Given the description of an element on the screen output the (x, y) to click on. 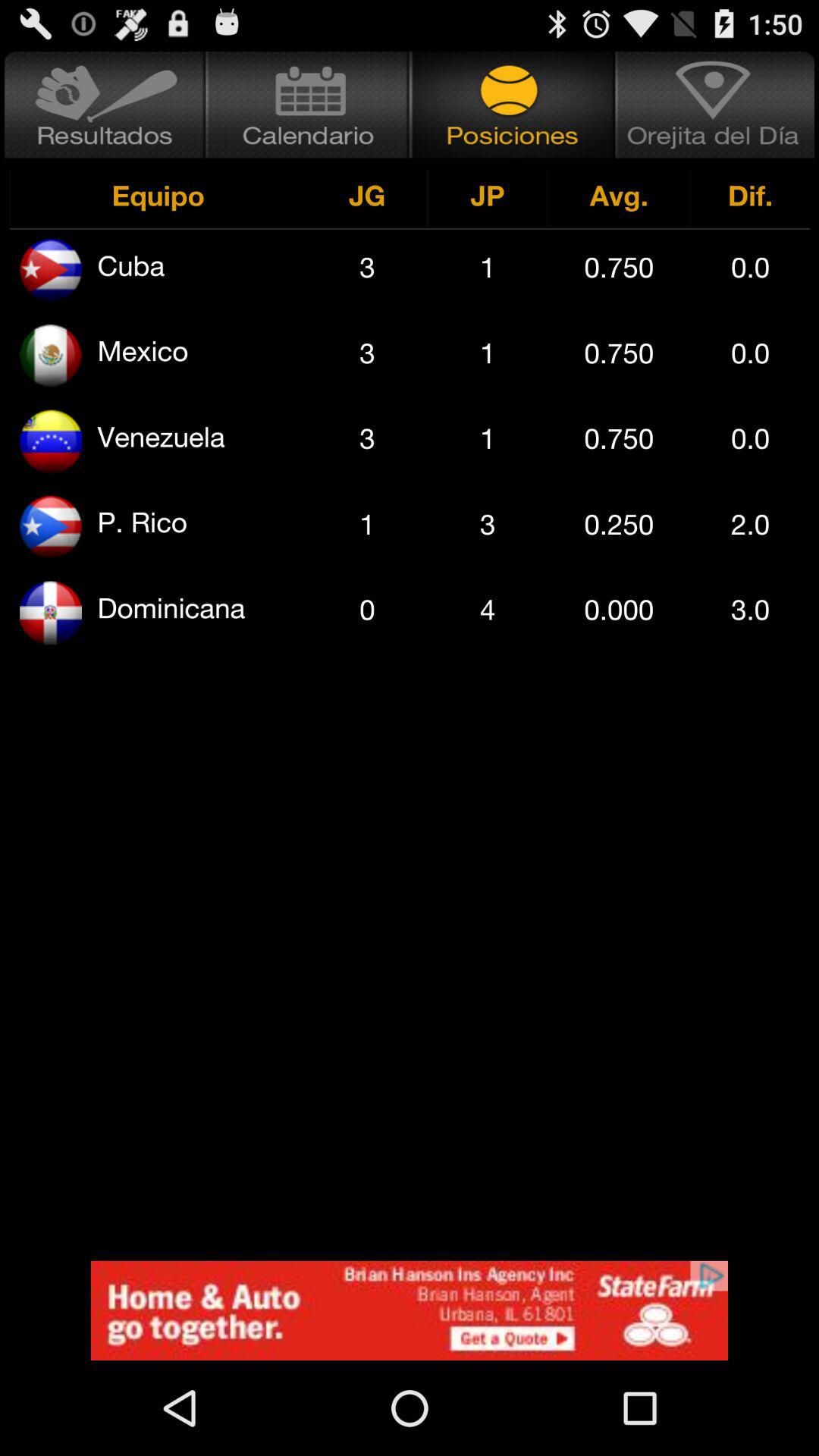
open calendar (307, 104)
